Given the description of an element on the screen output the (x, y) to click on. 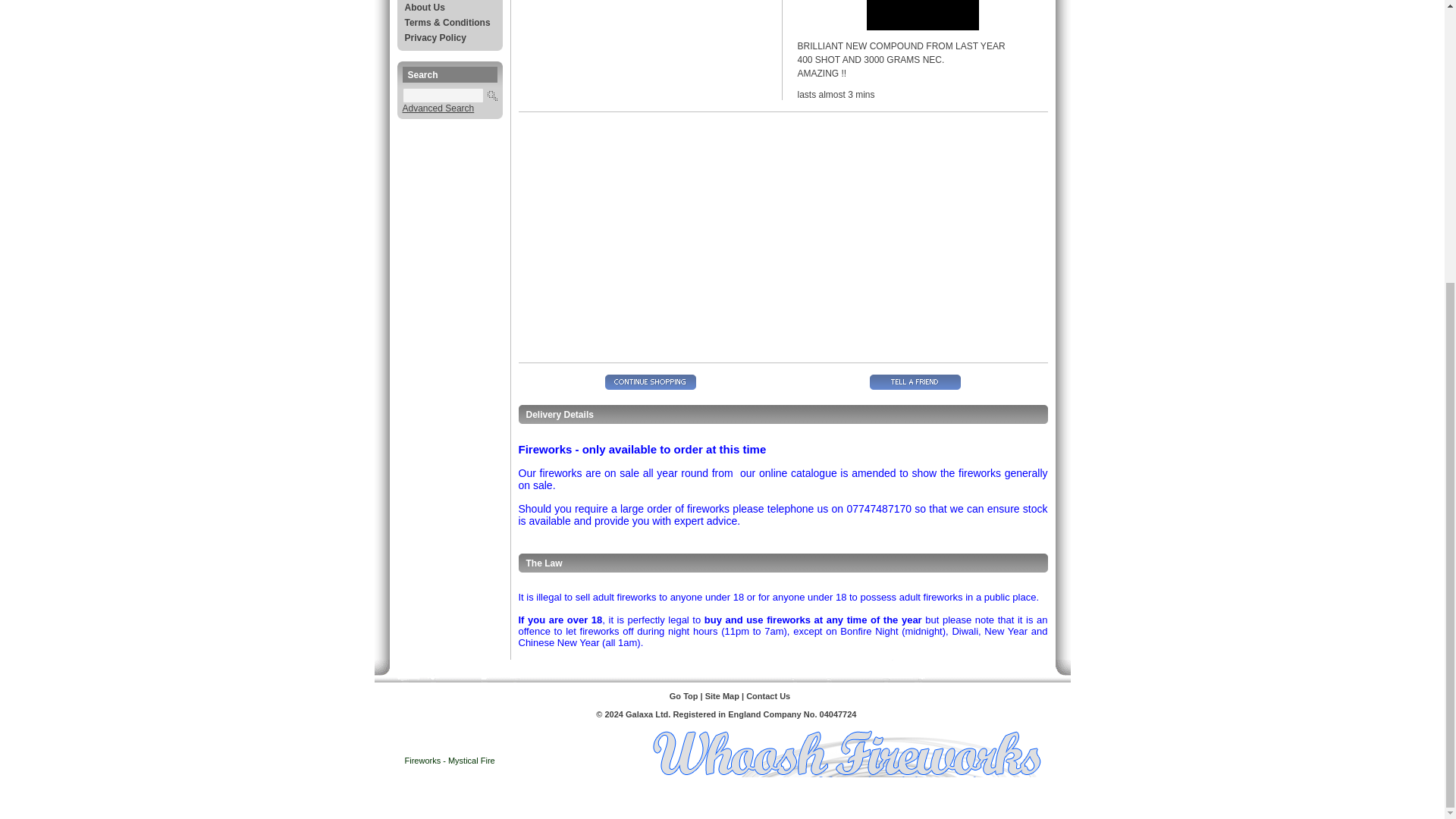
Site Map (721, 696)
Advanced Search (437, 108)
Contact Us (767, 696)
YouTube video player (730, 231)
Go (491, 94)
Go (491, 94)
About Us (448, 7)
Go Top (683, 696)
Privacy Policy (448, 37)
